Given the description of an element on the screen output the (x, y) to click on. 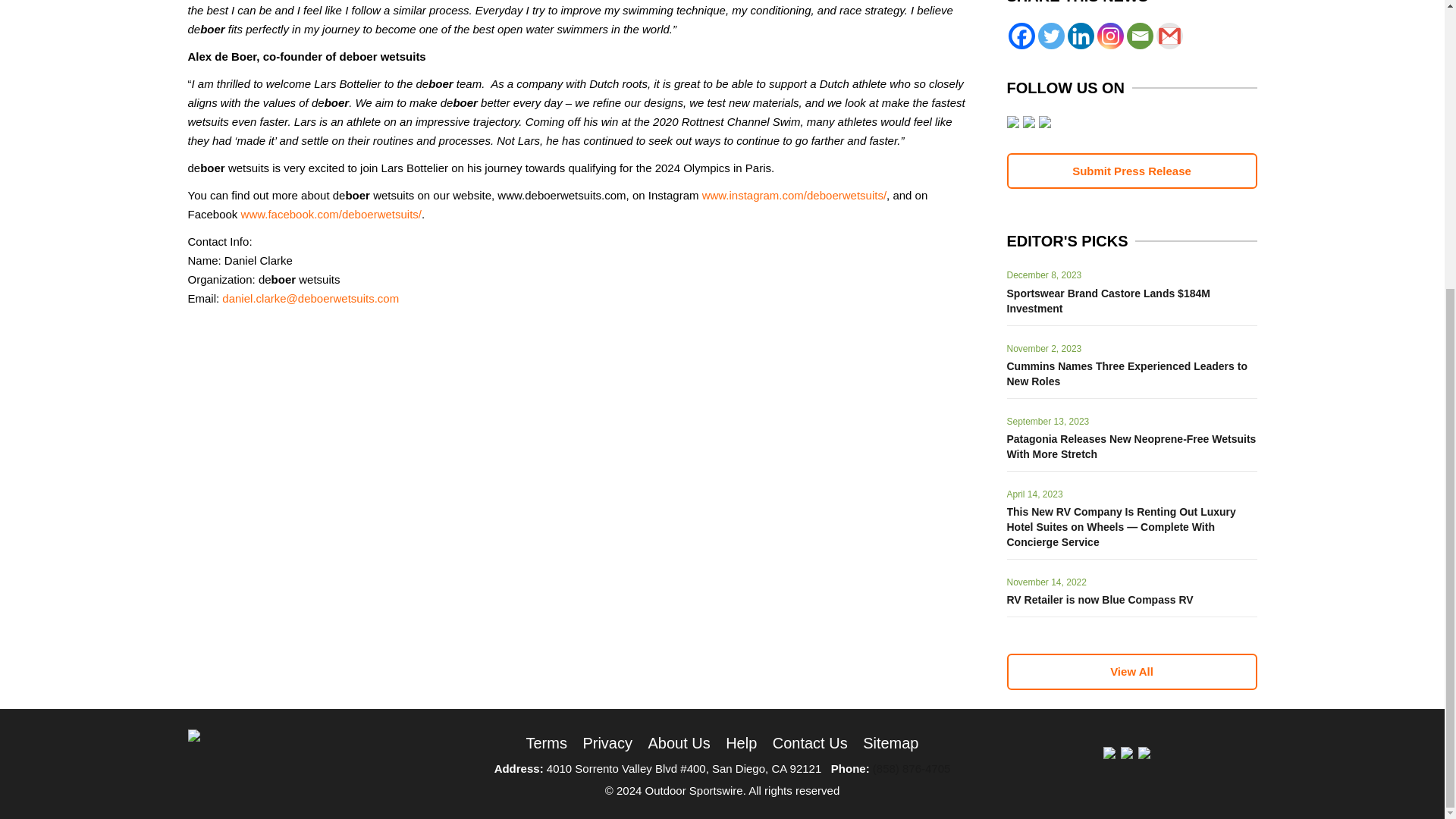
Email (1139, 35)
Google Gmail (1169, 35)
Facebook (1022, 35)
Twitter (1050, 35)
Linkedin (1080, 35)
Instagram (1109, 35)
